Given the description of an element on the screen output the (x, y) to click on. 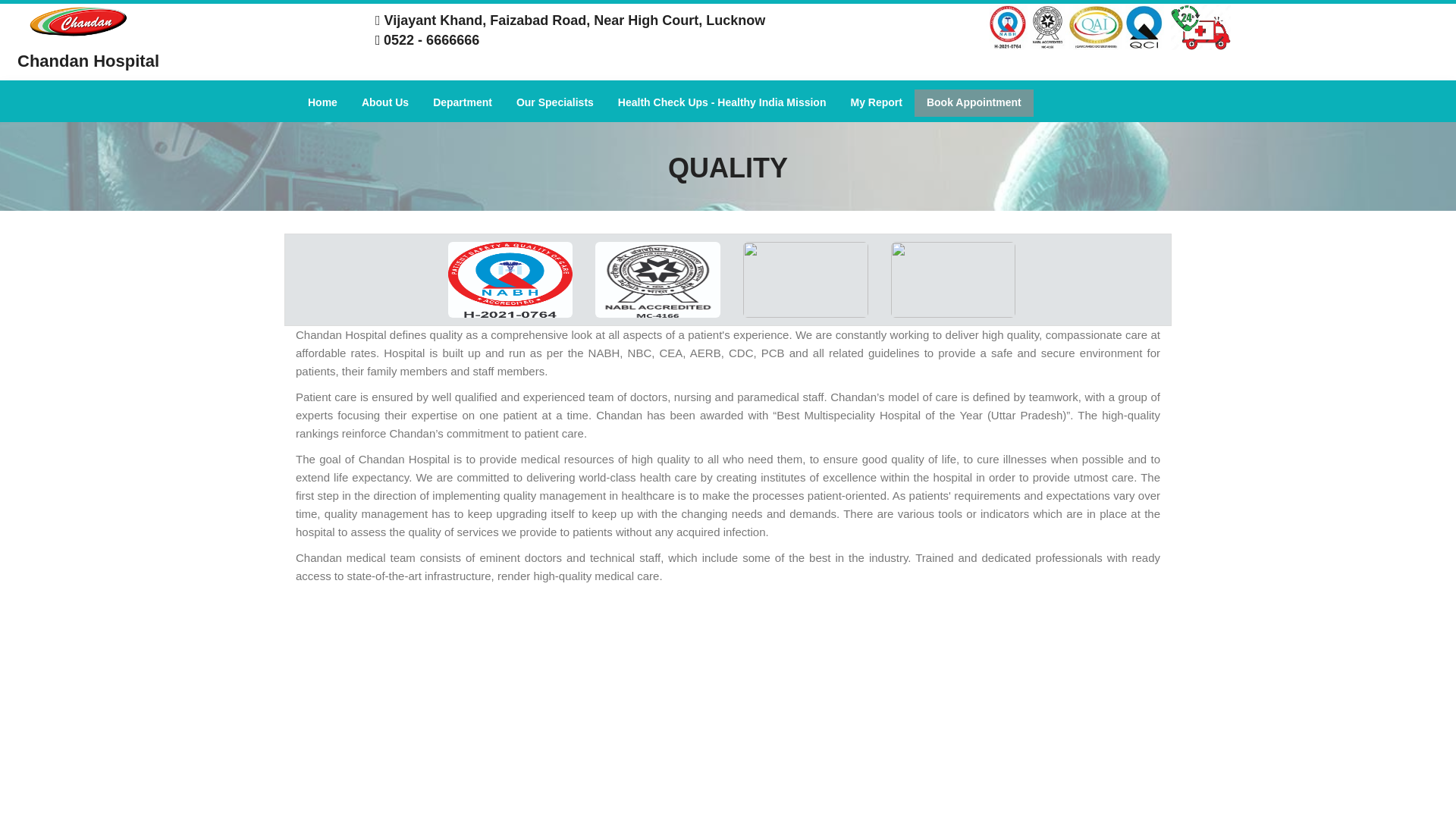
Health Check Ups - Healthy India Mission (721, 103)
About Us (384, 103)
 Vijayant Khand, Faizabad Road, Near High Court, Lucknow (570, 20)
Department (461, 103)
0522 - 6666666 (431, 39)
Home (322, 103)
Our Specialists (554, 103)
Chandan Hospital (181, 40)
